Given the description of an element on the screen output the (x, y) to click on. 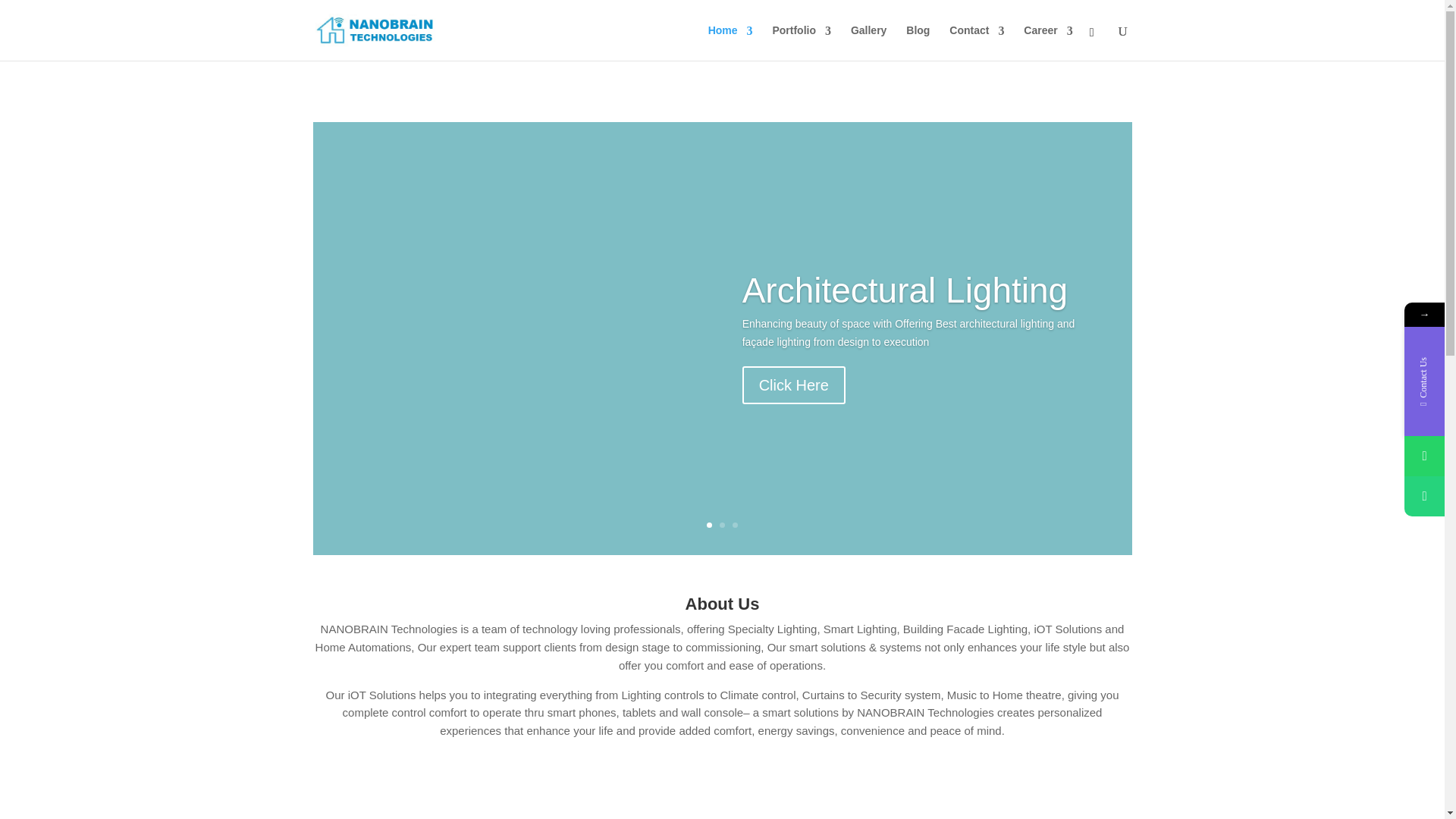
Portfolio (801, 36)
Career (1047, 36)
2 (722, 524)
Click Here (793, 385)
3 (735, 524)
1 (708, 524)
Architectural Lighting (905, 290)
Home (729, 36)
Contact (976, 36)
